Given the description of an element on the screen output the (x, y) to click on. 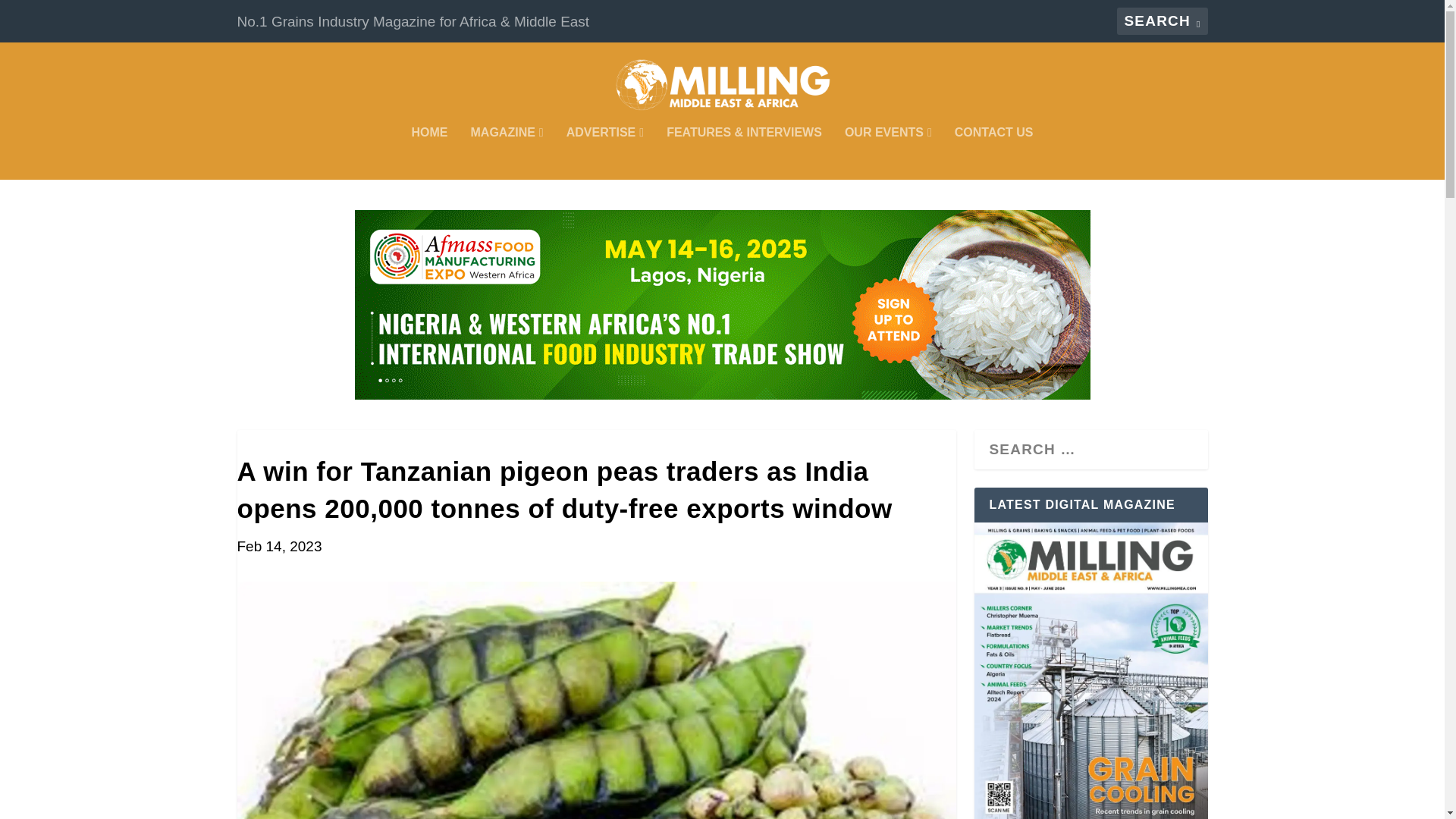
OUR EVENTS (887, 152)
CONTACT US (994, 152)
ADVERTISE (604, 152)
MAGAZINE (506, 152)
Search for: (1161, 21)
